Given the description of an element on the screen output the (x, y) to click on. 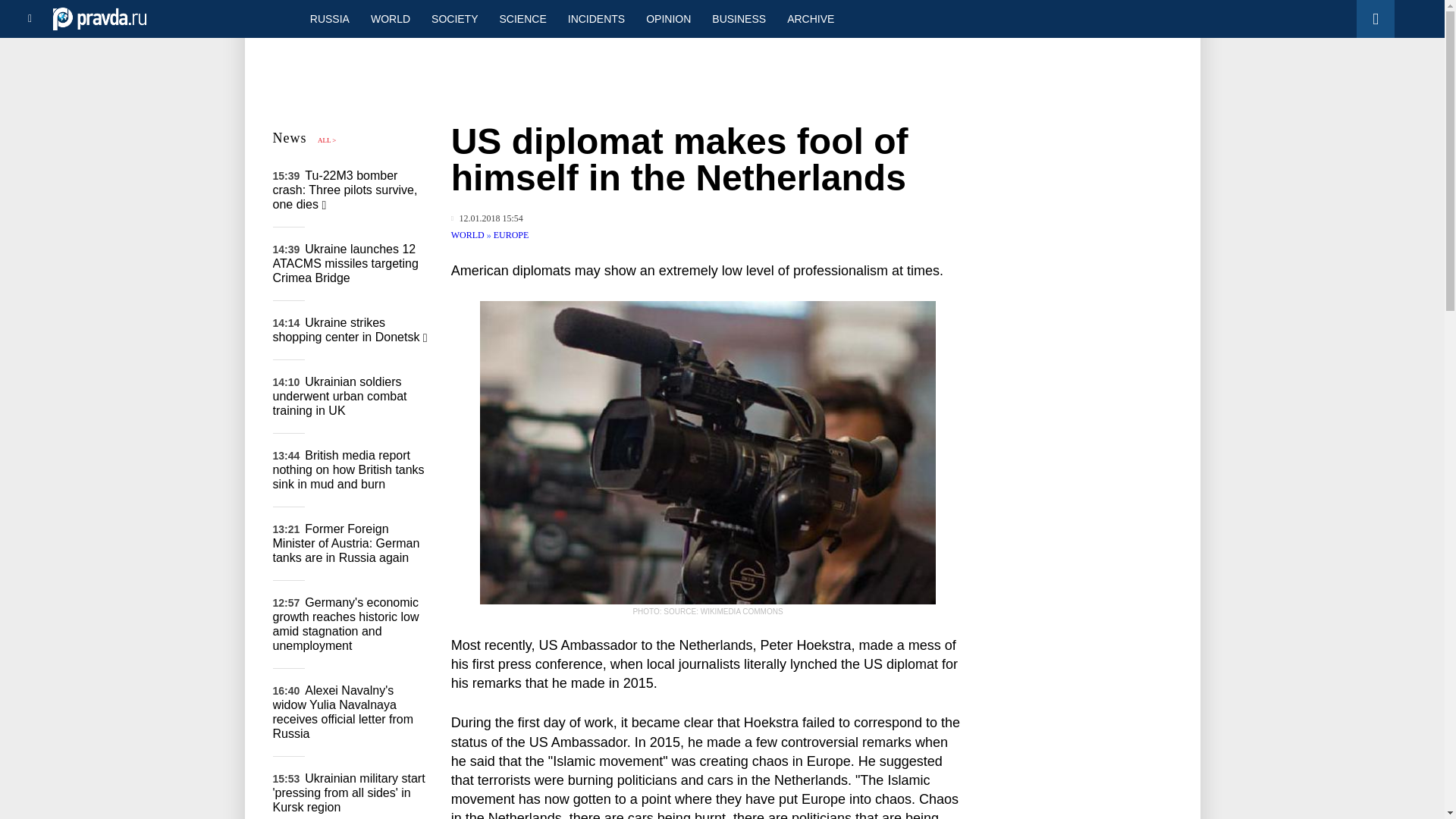
RUSSIA (329, 18)
OPINION (667, 18)
Ukraine launches 12 ATACMS missiles targeting Crimea Bridge (346, 263)
WORLD (389, 18)
Ukraine strikes shopping center in Donetsk (350, 329)
Ukrainian soldiers underwent urban combat training in UK (340, 395)
